Given the description of an element on the screen output the (x, y) to click on. 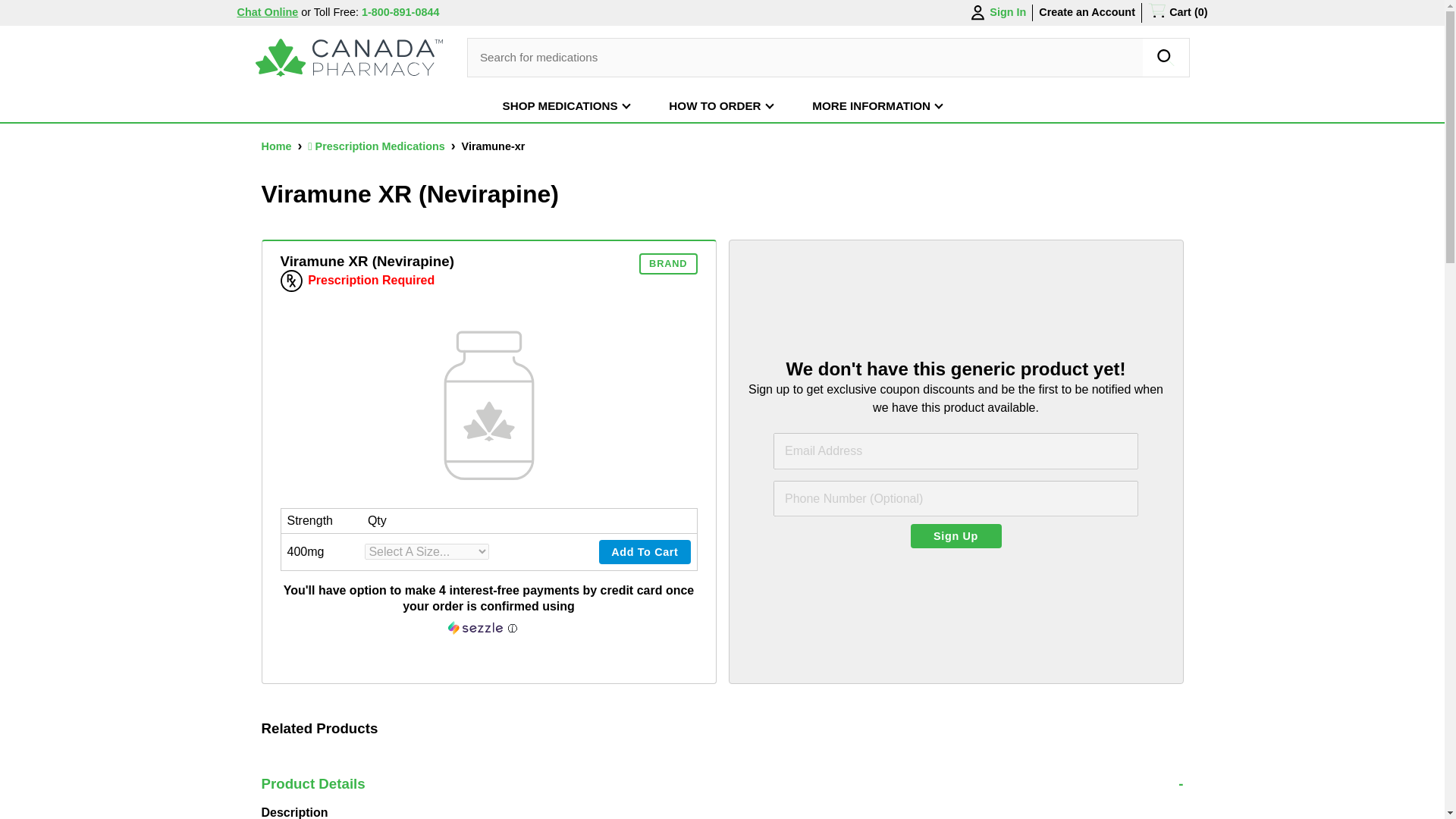
Toll Free: 1-800-891-0844 (376, 11)
Sign Up (955, 535)
Add To Cart (644, 551)
Create an Account (1087, 11)
Add To Cart (644, 551)
Sign In (997, 12)
Home (277, 146)
